Given the description of an element on the screen output the (x, y) to click on. 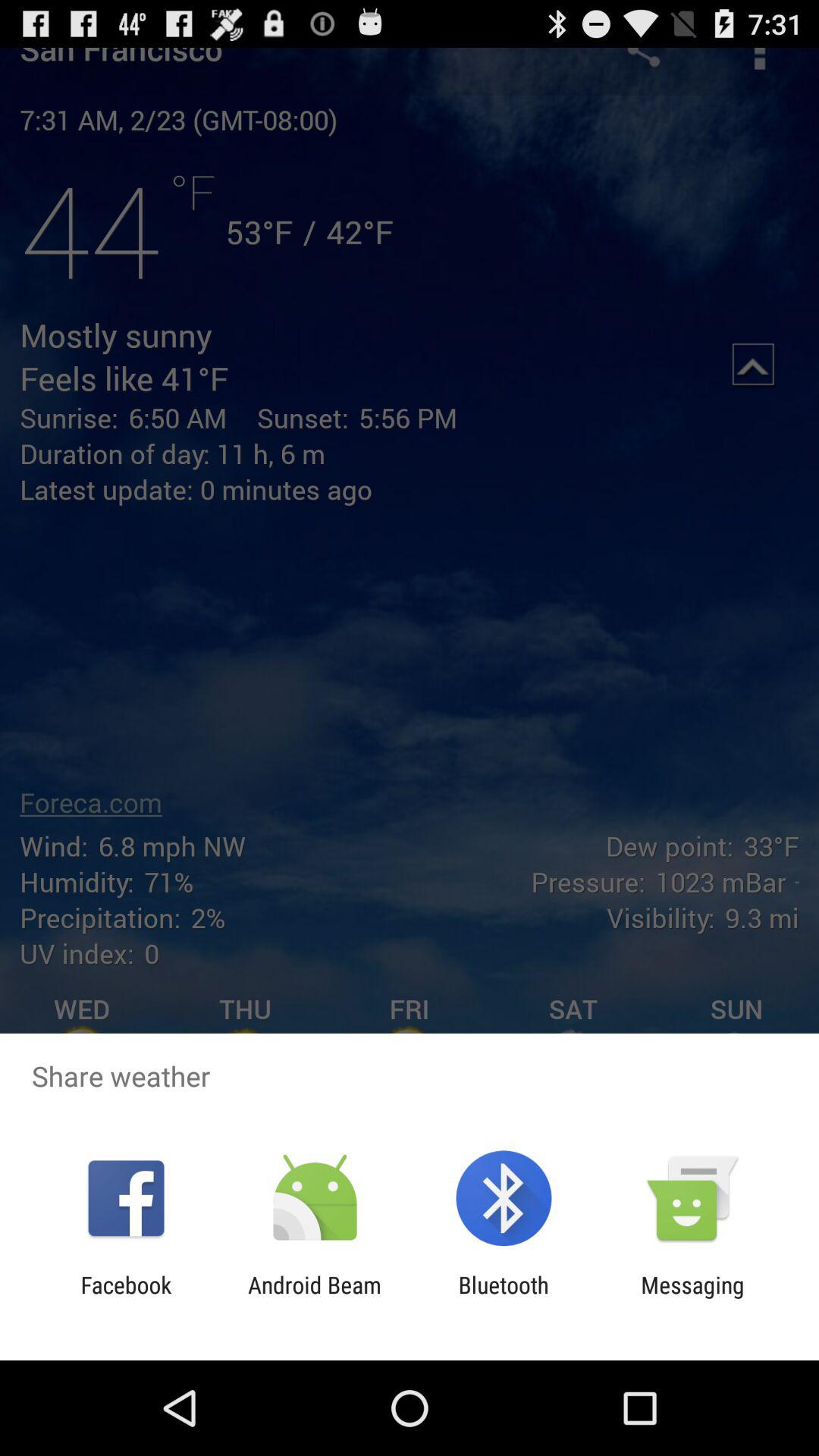
press bluetooth (503, 1298)
